Given the description of an element on the screen output the (x, y) to click on. 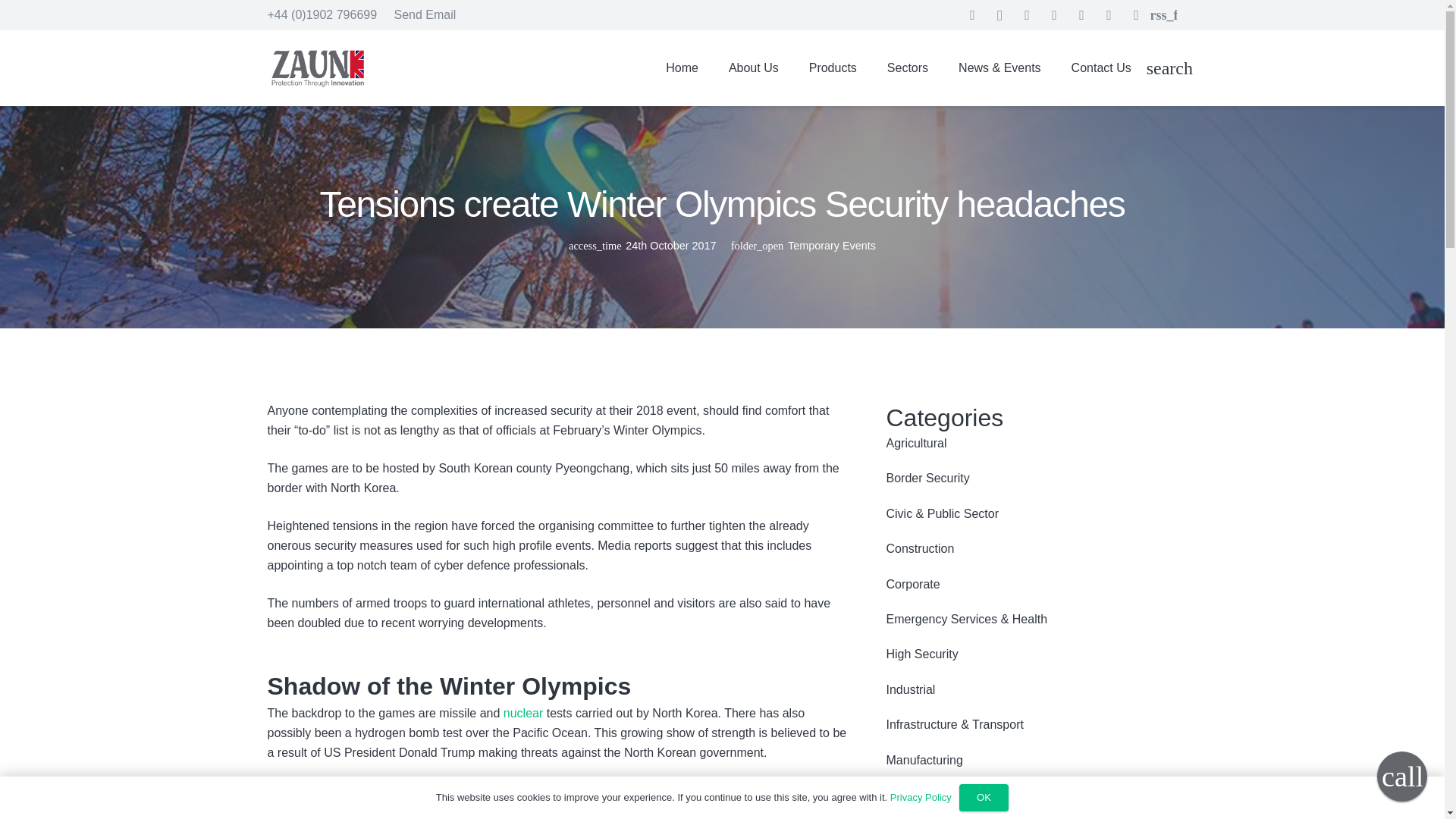
Home (681, 67)
Instagram (1000, 14)
Pinterest (1082, 14)
Vimeo (1109, 14)
LinkedIn (1027, 14)
Facebook (973, 14)
YouTube (1136, 14)
RSS (1163, 14)
Send Email (424, 14)
Twitter (1054, 14)
Products (832, 67)
About Us (753, 67)
Zaun nuclear summit effort earns high Dutch police praise (523, 712)
